Given the description of an element on the screen output the (x, y) to click on. 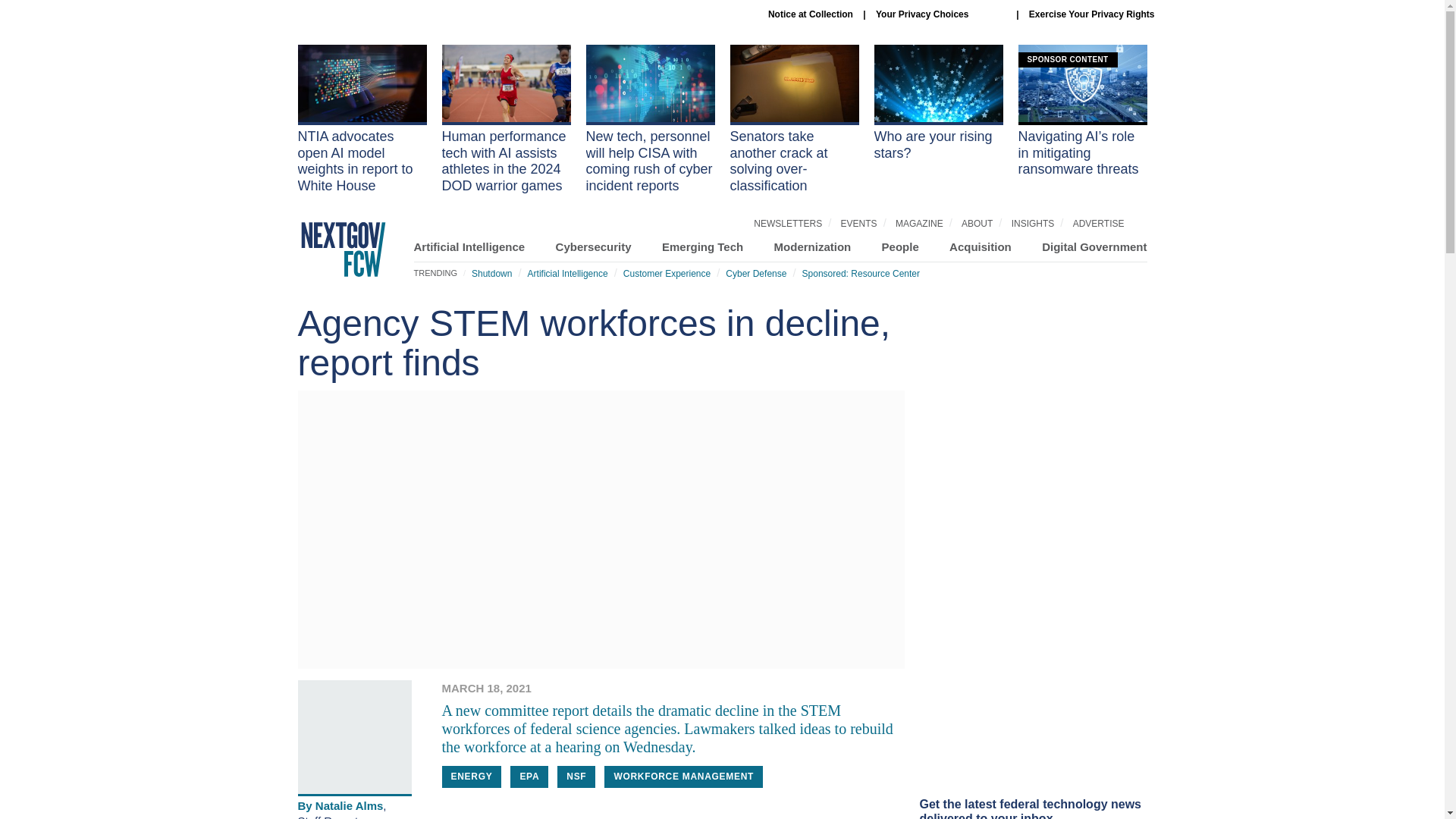
People (900, 246)
Your Privacy Choices (941, 14)
Modernization (812, 246)
ABOUT (976, 223)
Customer Experience (666, 273)
INSIGHTS (1032, 223)
ADVERTISE (1098, 223)
Shutdown (491, 273)
Sponsored: Resource Center (861, 273)
Digital Government (1094, 246)
Artificial Intelligence (469, 246)
Acquisition (980, 246)
NEWSLETTERS (788, 223)
Cyber Defense (755, 273)
Notice at Collection (810, 14)
